Given the description of an element on the screen output the (x, y) to click on. 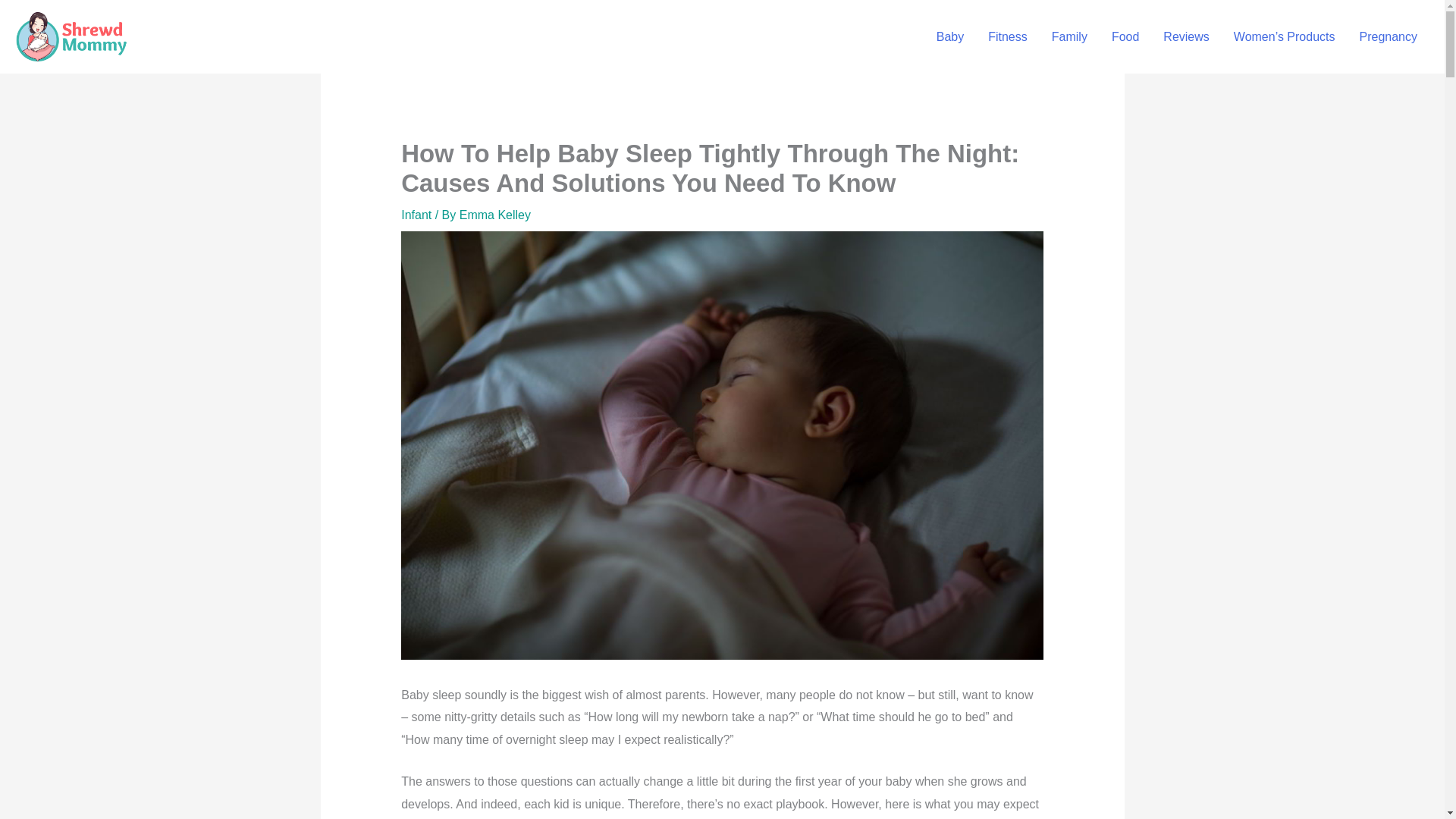
Infant (415, 214)
Food (1125, 36)
Family (1069, 36)
View all posts by Emma Kelley (495, 214)
Reviews (1186, 36)
Baby (949, 36)
Fitness (1007, 36)
Emma Kelley (495, 214)
Pregnancy (1387, 36)
